Given the description of an element on the screen output the (x, y) to click on. 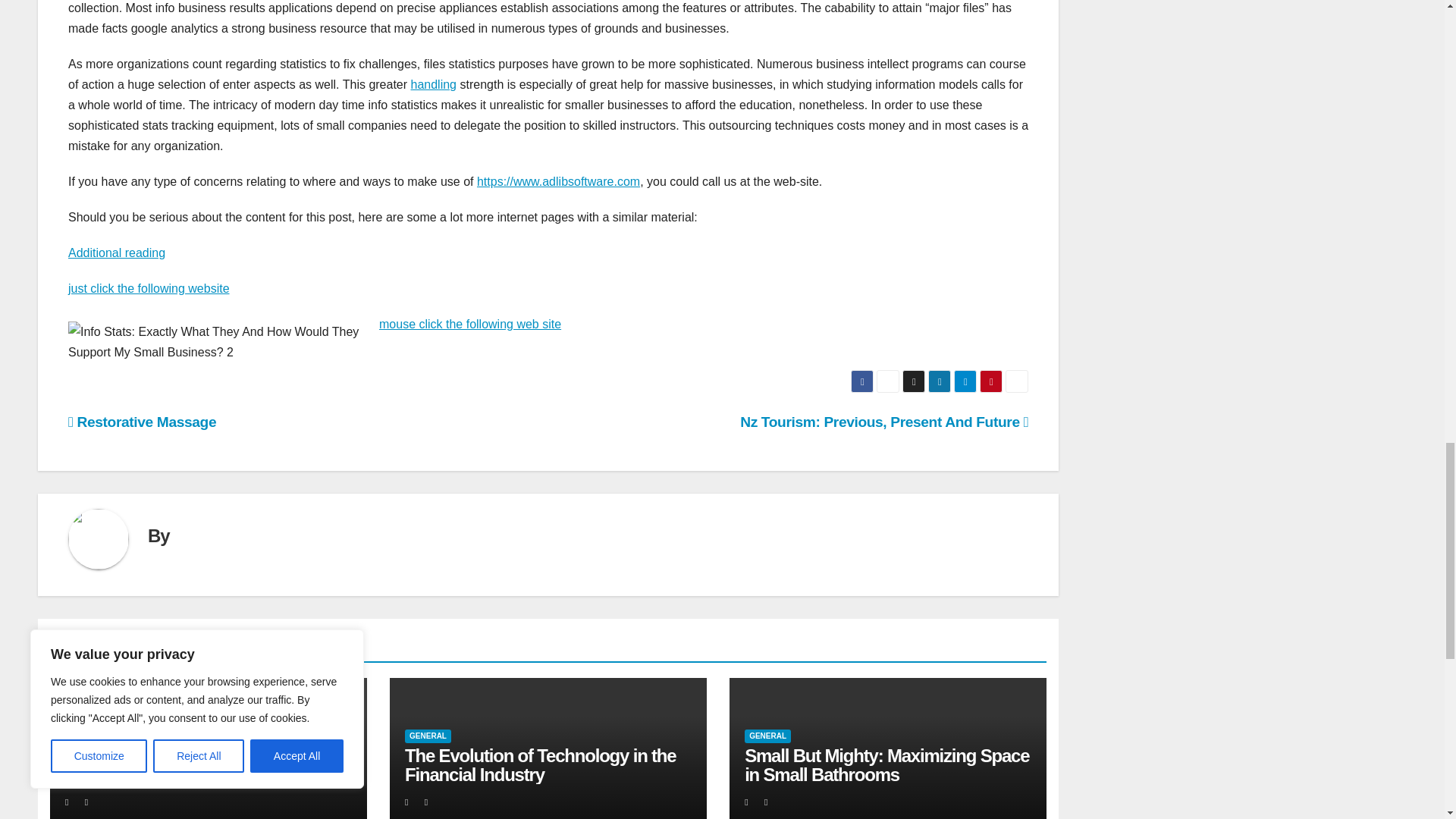
just click the following website (149, 287)
mouse click the following web site (469, 323)
handling (433, 83)
Permalink to: The Timeless Appeal of Limoges Porcelain (192, 764)
Additional reading (116, 252)
